Given the description of an element on the screen output the (x, y) to click on. 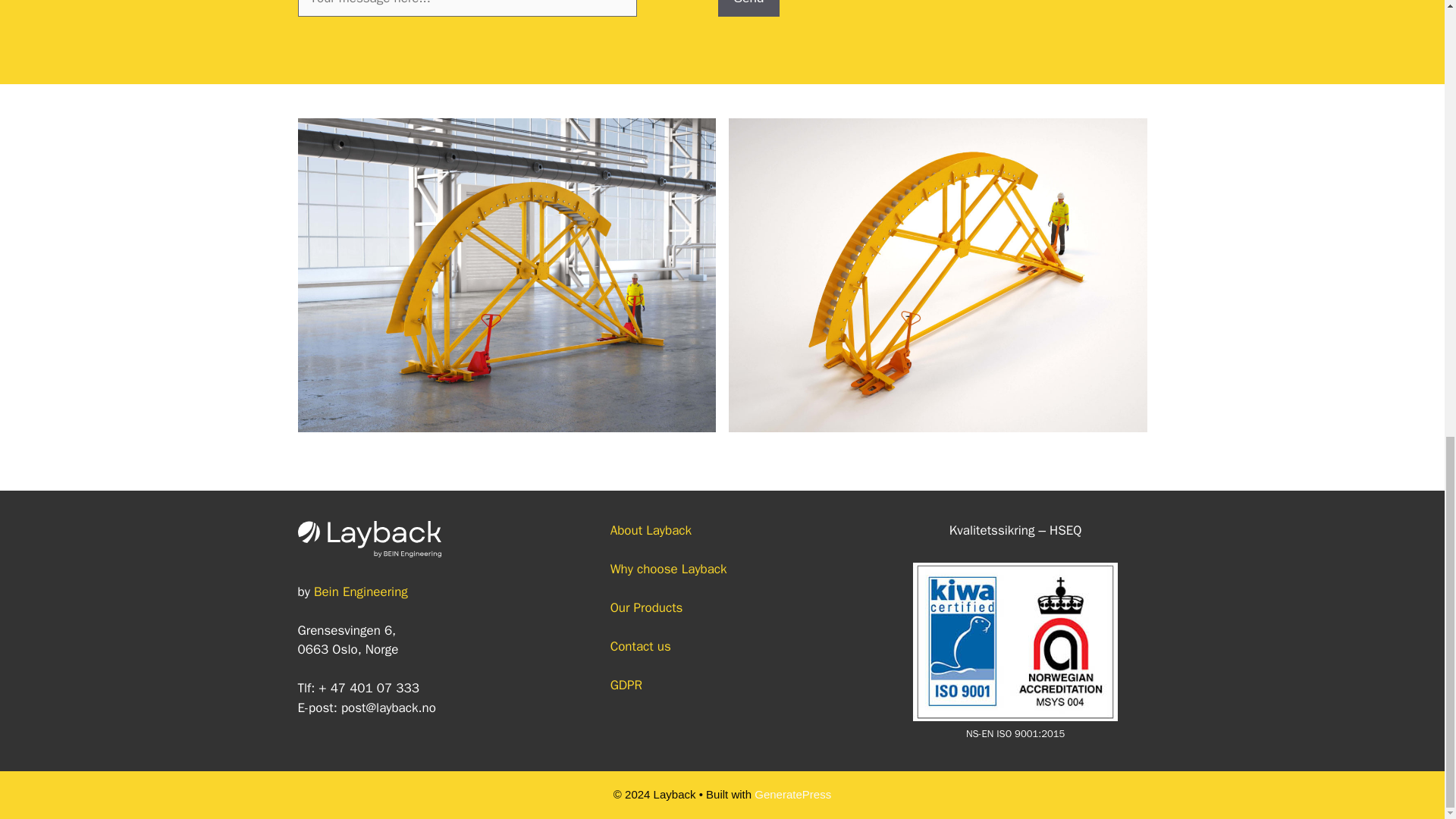
     Why choose Layback (658, 569)
GeneratePress (792, 793)
     About Layback (641, 530)
Send (748, 8)
Send (748, 8)
     Contact us (631, 646)
     GDPR (616, 684)
Bein Engineering (360, 591)
     Our Products (636, 607)
